Given the description of an element on the screen output the (x, y) to click on. 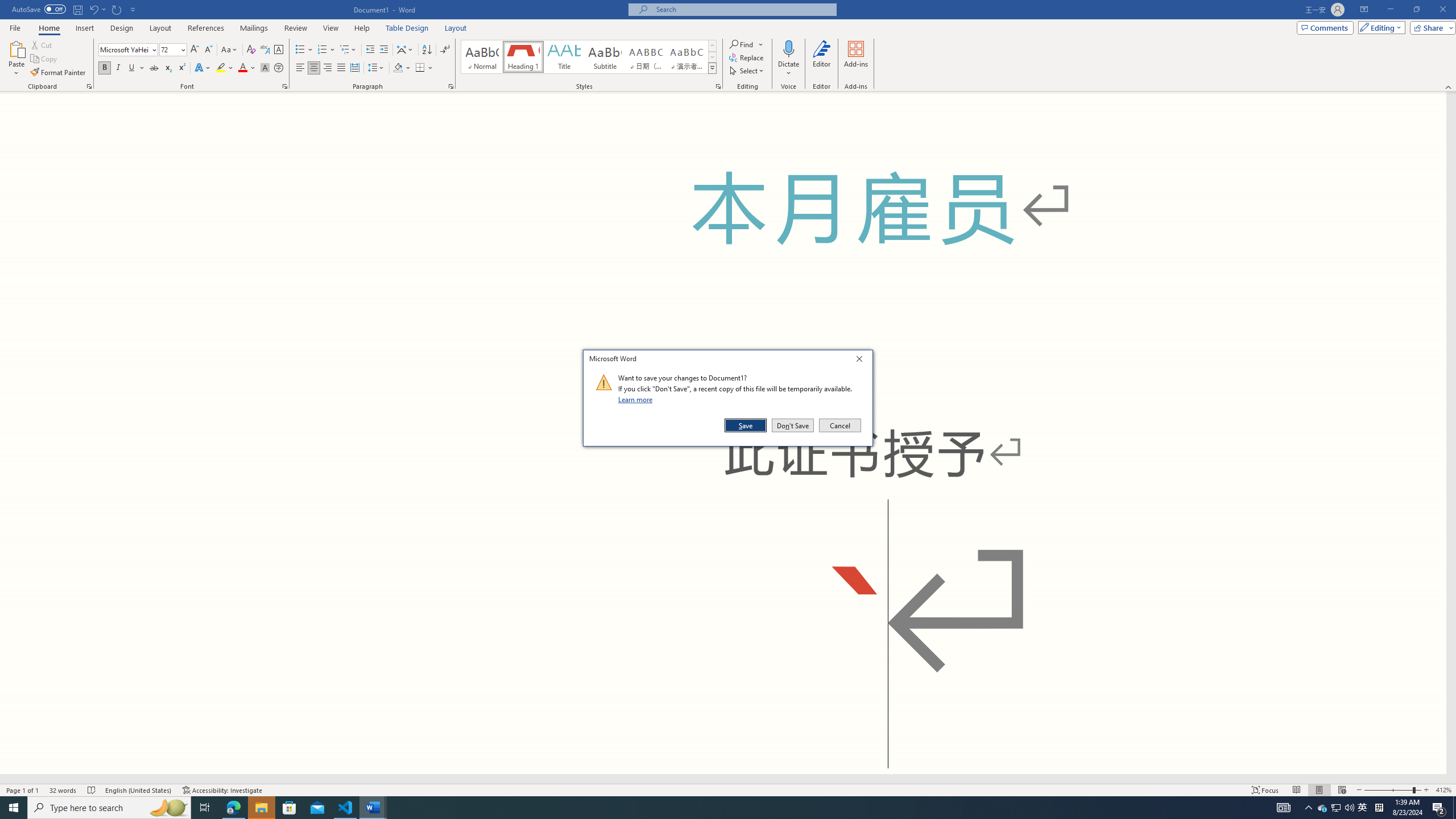
AutomationID: QuickStylesGallery (588, 56)
Undo Grow Font (96, 9)
